Given the description of an element on the screen output the (x, y) to click on. 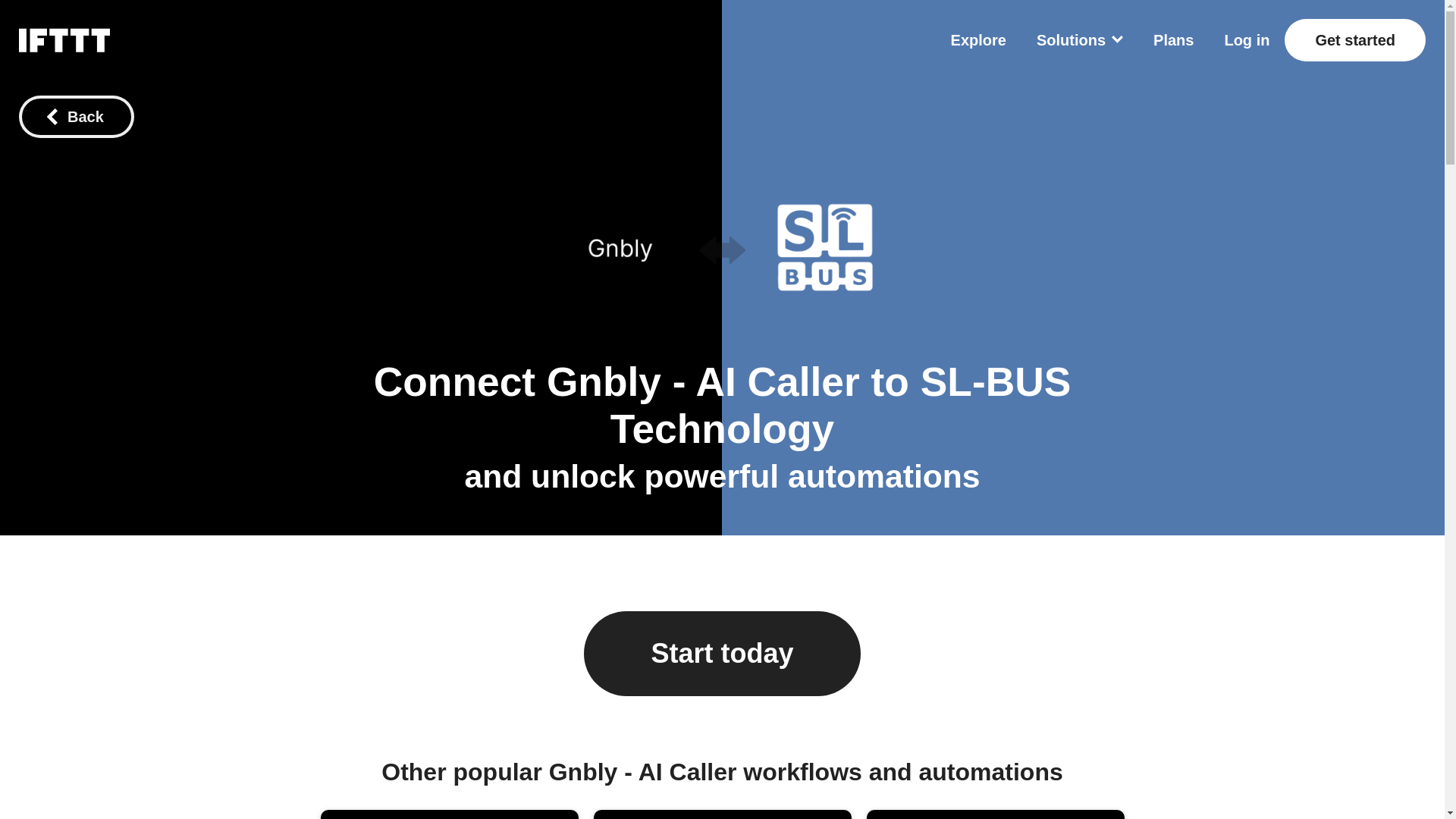
Get started (1354, 39)
Start today (721, 653)
Gnbly - AI Caller (703, 381)
Get started (1354, 39)
Solutions (1079, 39)
Home (64, 40)
Gnbly - AI Caller (703, 381)
Explore (978, 39)
Gnbly - AI Caller (619, 248)
